Given the description of an element on the screen output the (x, y) to click on. 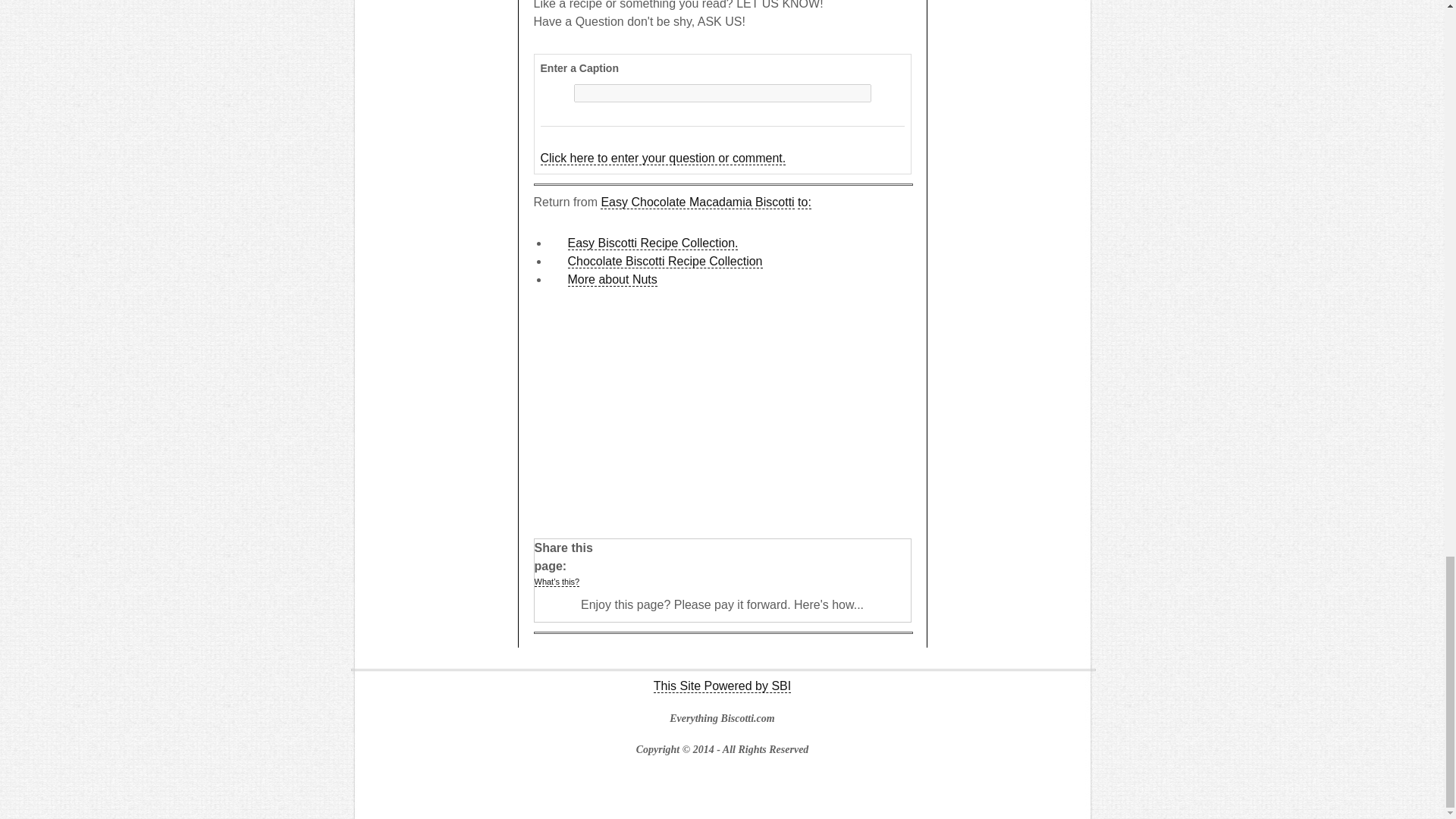
Chocolate Biscotti Recipe Collection (664, 261)
More about Nuts (611, 279)
Easy Chocolate Macadamia Biscotti (696, 202)
to: (803, 202)
Easy Biscotti Recipe Collection. (652, 243)
Click here to enter your question or comment. (663, 158)
